Given the description of an element on the screen output the (x, y) to click on. 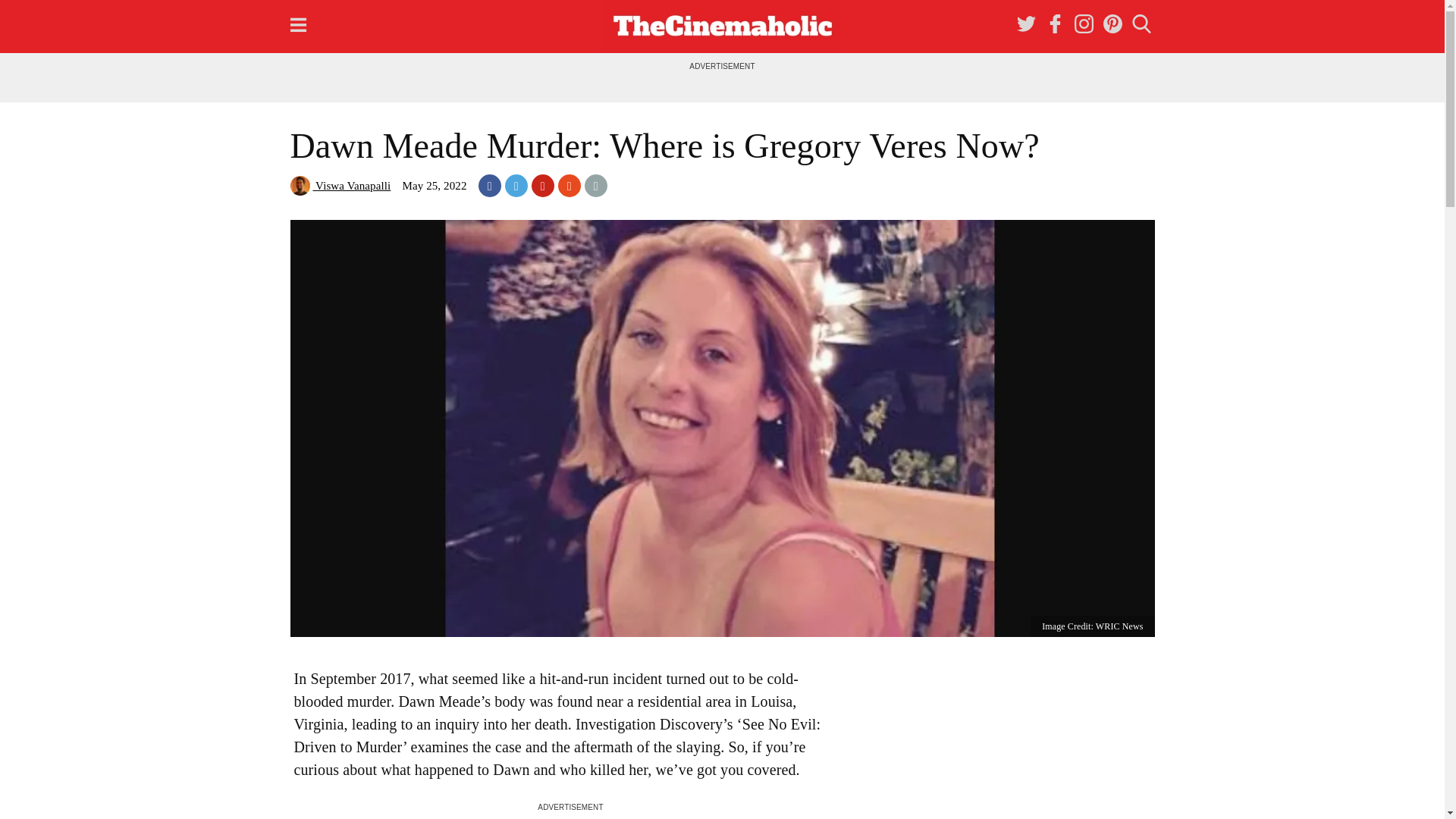
Viswa Vanapalli (339, 185)
